Given the description of an element on the screen output the (x, y) to click on. 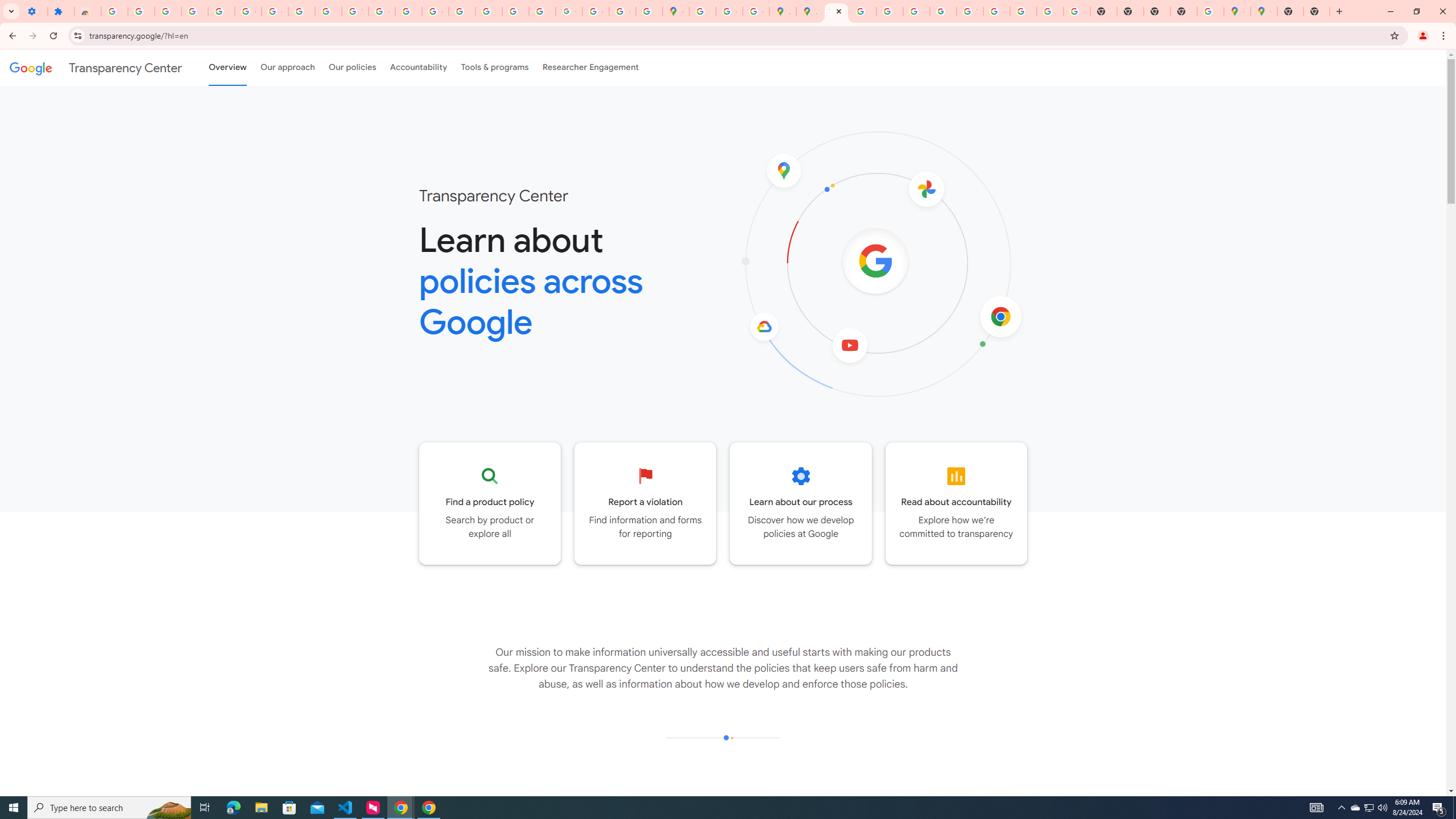
Privacy Help Center - Policies Help (889, 11)
Our approach (287, 67)
Google Account Help (275, 11)
Use Google Maps in Space - Google Maps Help (1210, 11)
Go to the Accountability page (956, 503)
Privacy Help Center - Policies Help (862, 11)
Google Account Help (248, 11)
Google Maps (1263, 11)
Sign in - Google Accounts (114, 11)
Delete photos & videos - Computer - Google Photos Help (141, 11)
